Given the description of an element on the screen output the (x, y) to click on. 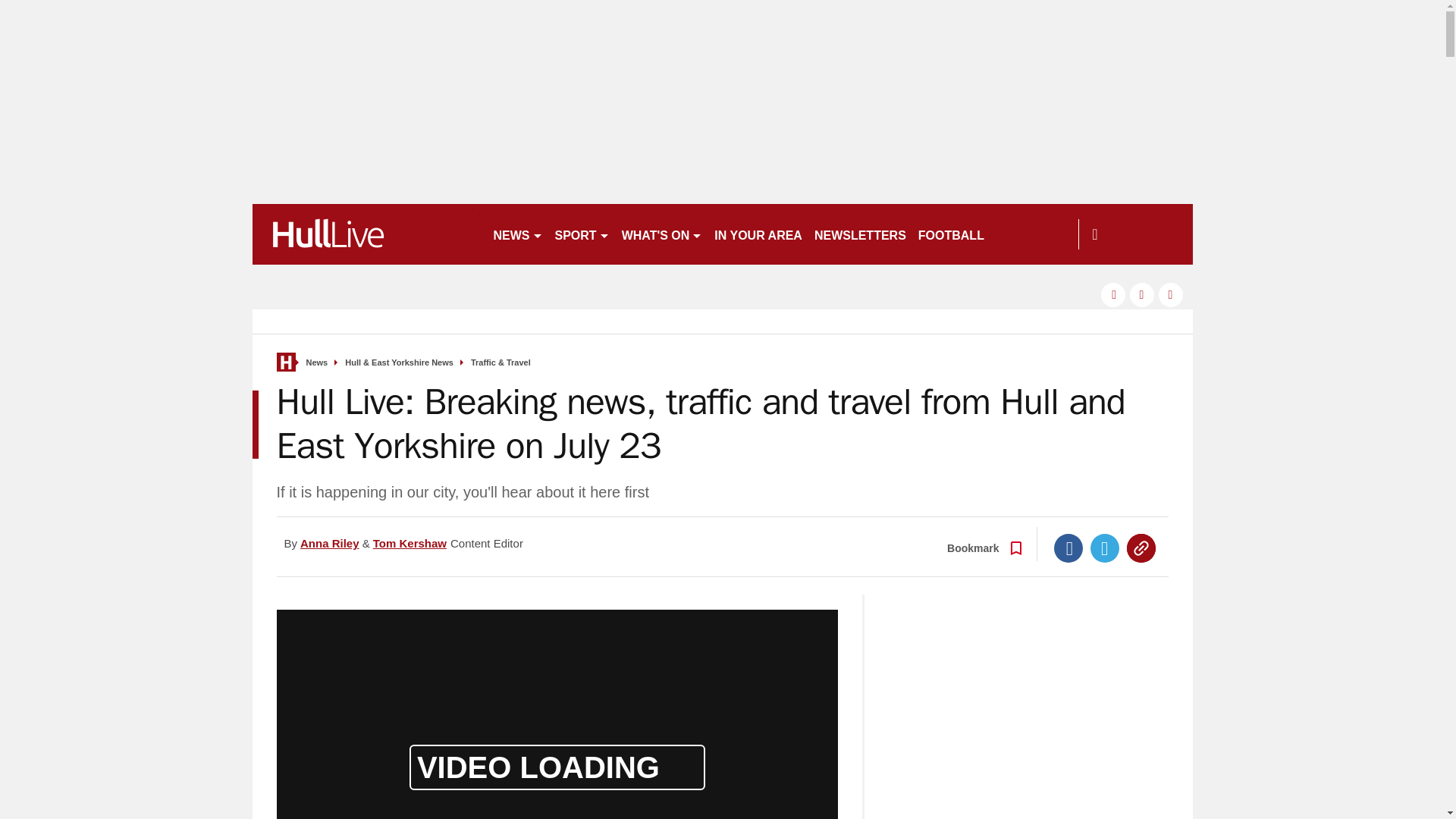
hulldailymail (365, 233)
NEWS (517, 233)
instagram (1170, 294)
facebook (1112, 294)
Facebook (1068, 547)
IN YOUR AREA (757, 233)
Twitter (1104, 547)
WHAT'S ON (662, 233)
FOOTBALL (951, 233)
SPORT (581, 233)
twitter (1141, 294)
RUGBY LEAGUE (1045, 233)
NEWSLETTERS (860, 233)
